Given the description of an element on the screen output the (x, y) to click on. 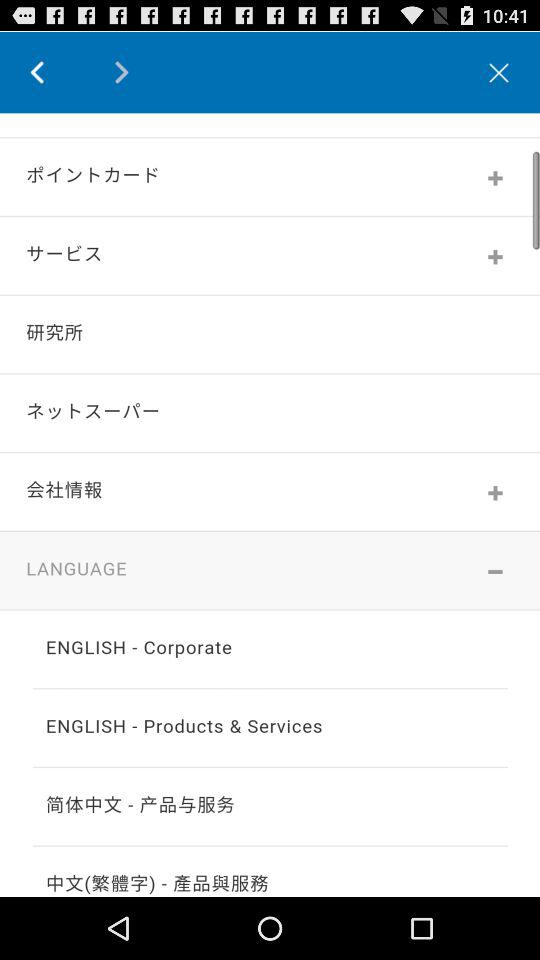
backspace (52, 71)
